Given the description of an element on the screen output the (x, y) to click on. 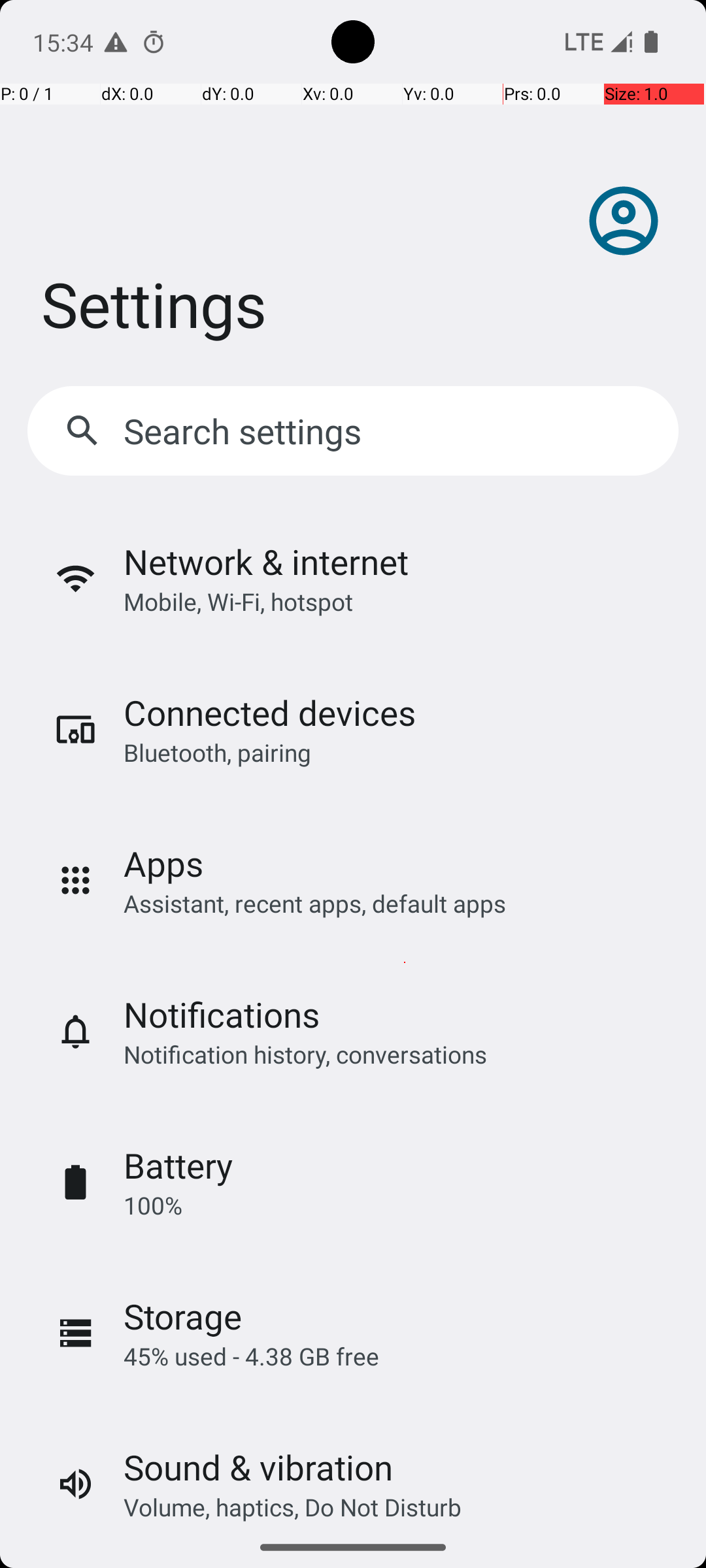
45% used - 4.38 GB free Element type: android.widget.TextView (251, 1355)
